Given the description of an element on the screen output the (x, y) to click on. 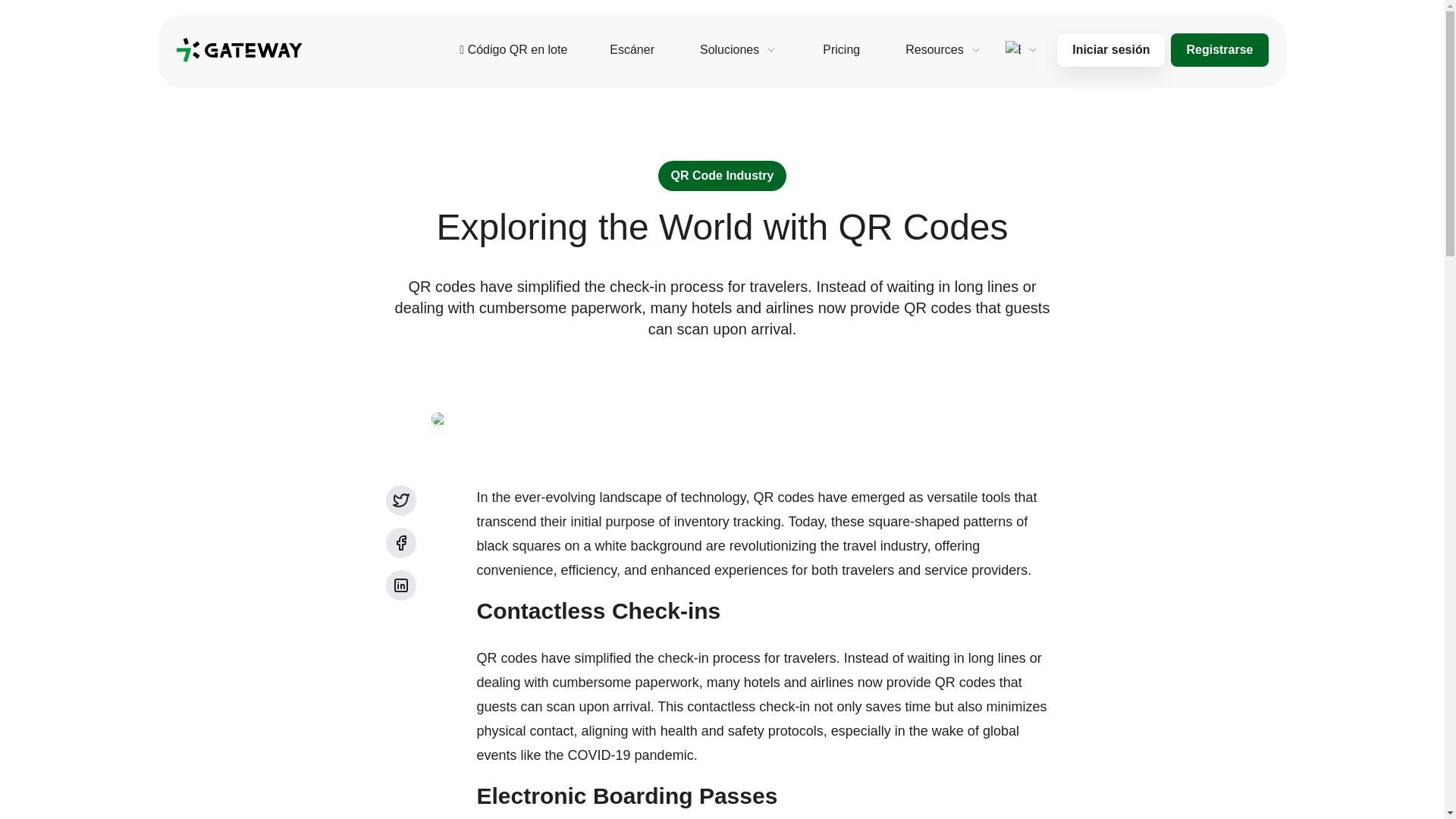
Resources (942, 49)
Pricing (841, 49)
Soluciones (738, 49)
QRGateway (238, 49)
Registrarse (1219, 49)
